Given the description of an element on the screen output the (x, y) to click on. 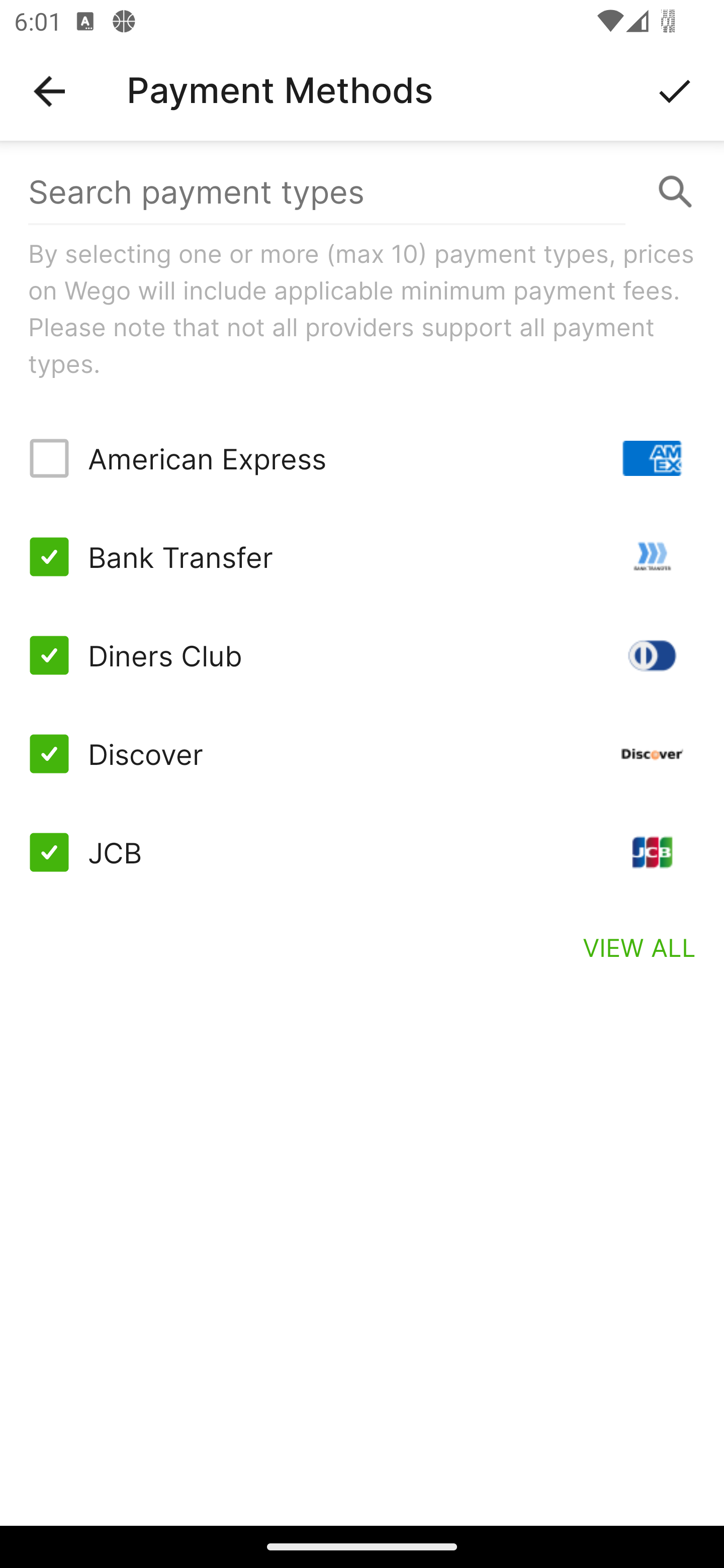
Search payment types  (361, 191)
American Express (362, 458)
Bank Transfer (362, 557)
Diners Club (362, 655)
Discover (362, 753)
JCB (362, 851)
VIEW ALL (639, 946)
